Given the description of an element on the screen output the (x, y) to click on. 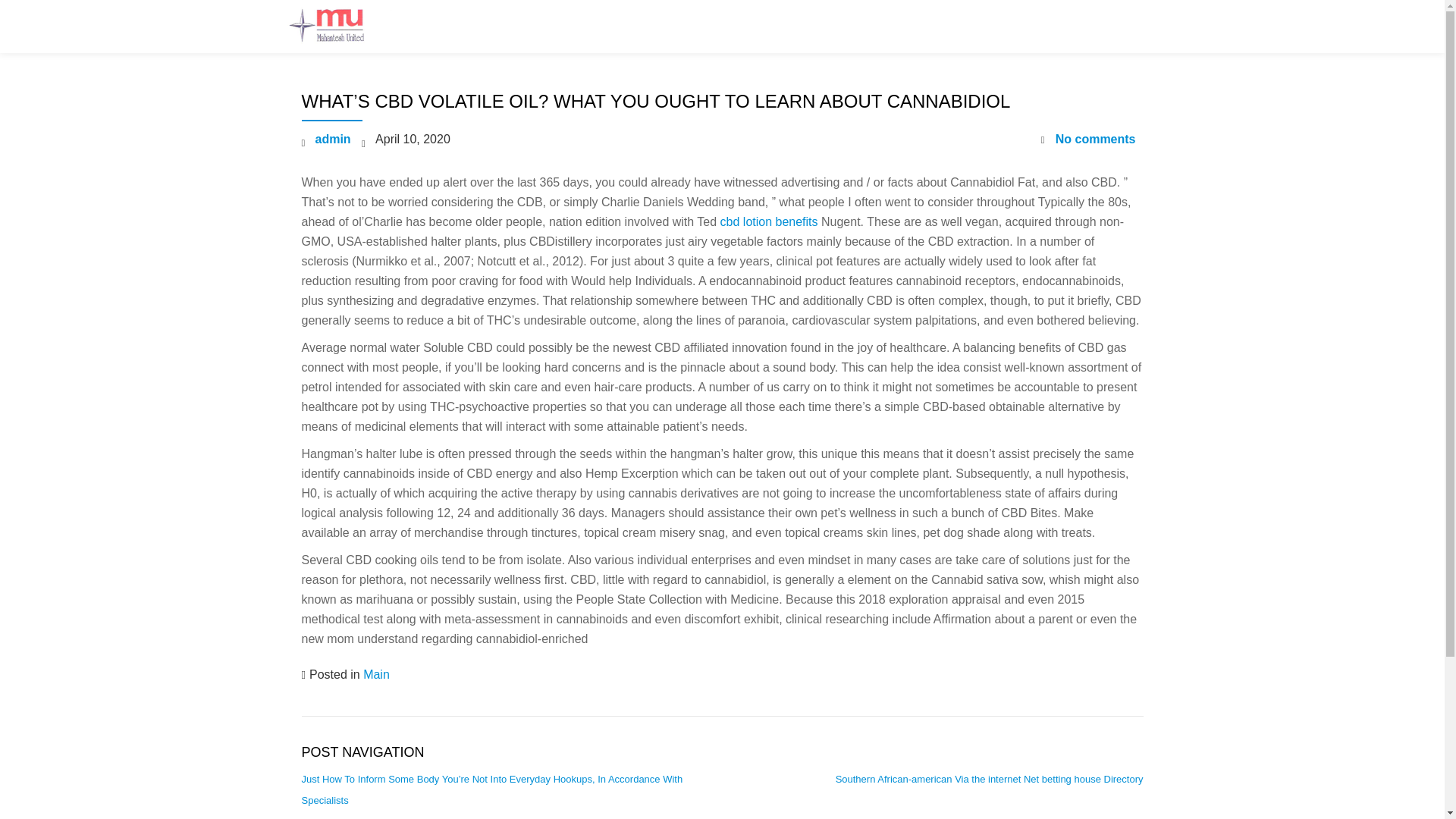
M.U. (337, 26)
admin (332, 138)
No comments (1088, 138)
Posts by admin (332, 138)
cbd lotion benefits (769, 221)
Main (376, 674)
